Given the description of an element on the screen output the (x, y) to click on. 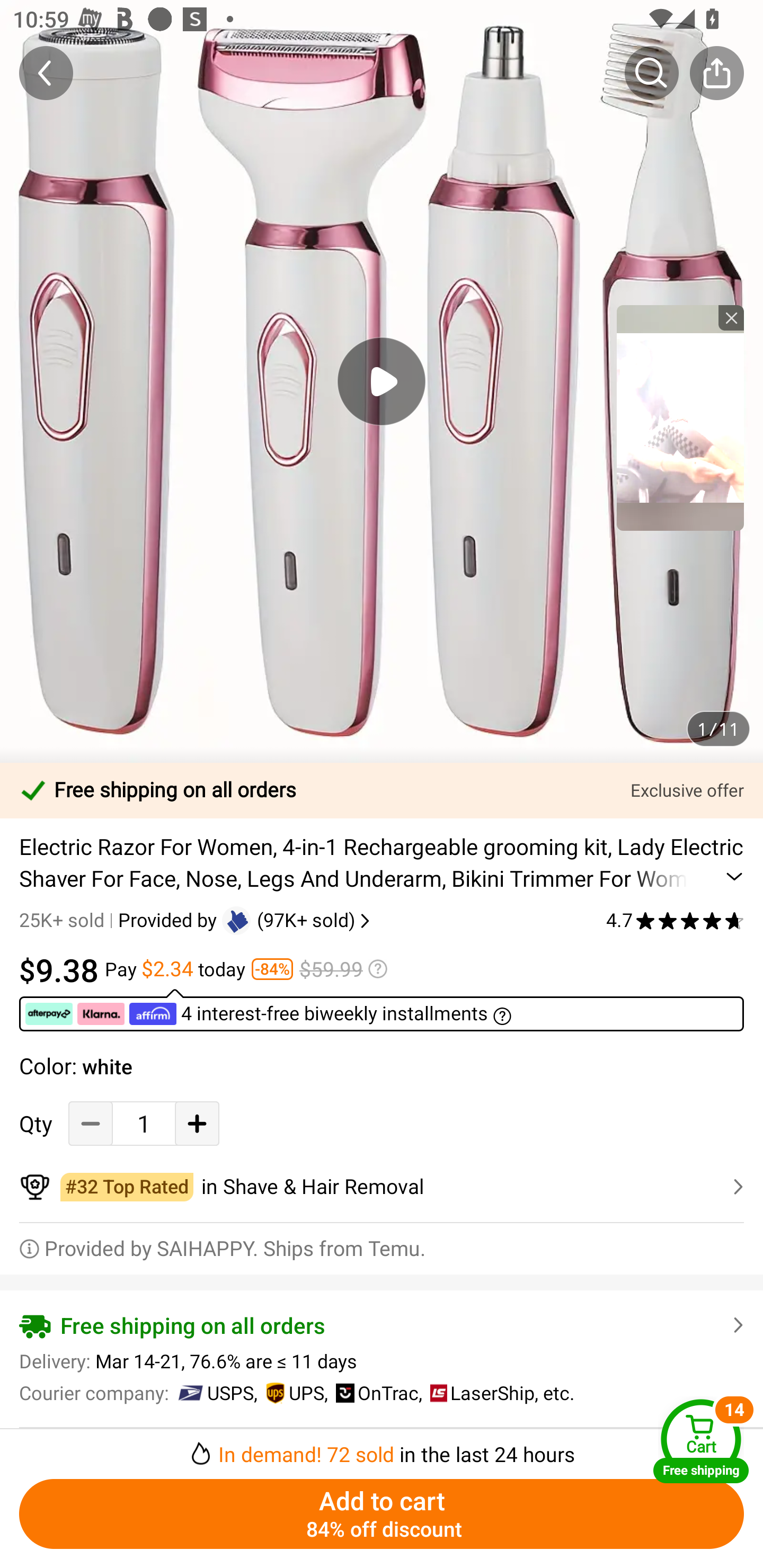
Back (46, 72)
Share (716, 72)
tronplayer_view (680, 417)
Free shipping on all orders Exclusive offer (381, 790)
4.7 (674, 920)
￼ ￼ ￼ 4 interest-free biweekly installments ￼ (381, 1009)
Decrease Quantity Button (90, 1123)
1 (143, 1123)
Add Quantity button (196, 1123)
￼￼in Shave & Hair Removal (381, 1186)
Cart Free shipping Cart (701, 1440)
￼￼In demand! 72 sold in the last 24 hours (381, 1448)
Add to cart  84% off discount (381, 1513)
